Given the description of an element on the screen output the (x, y) to click on. 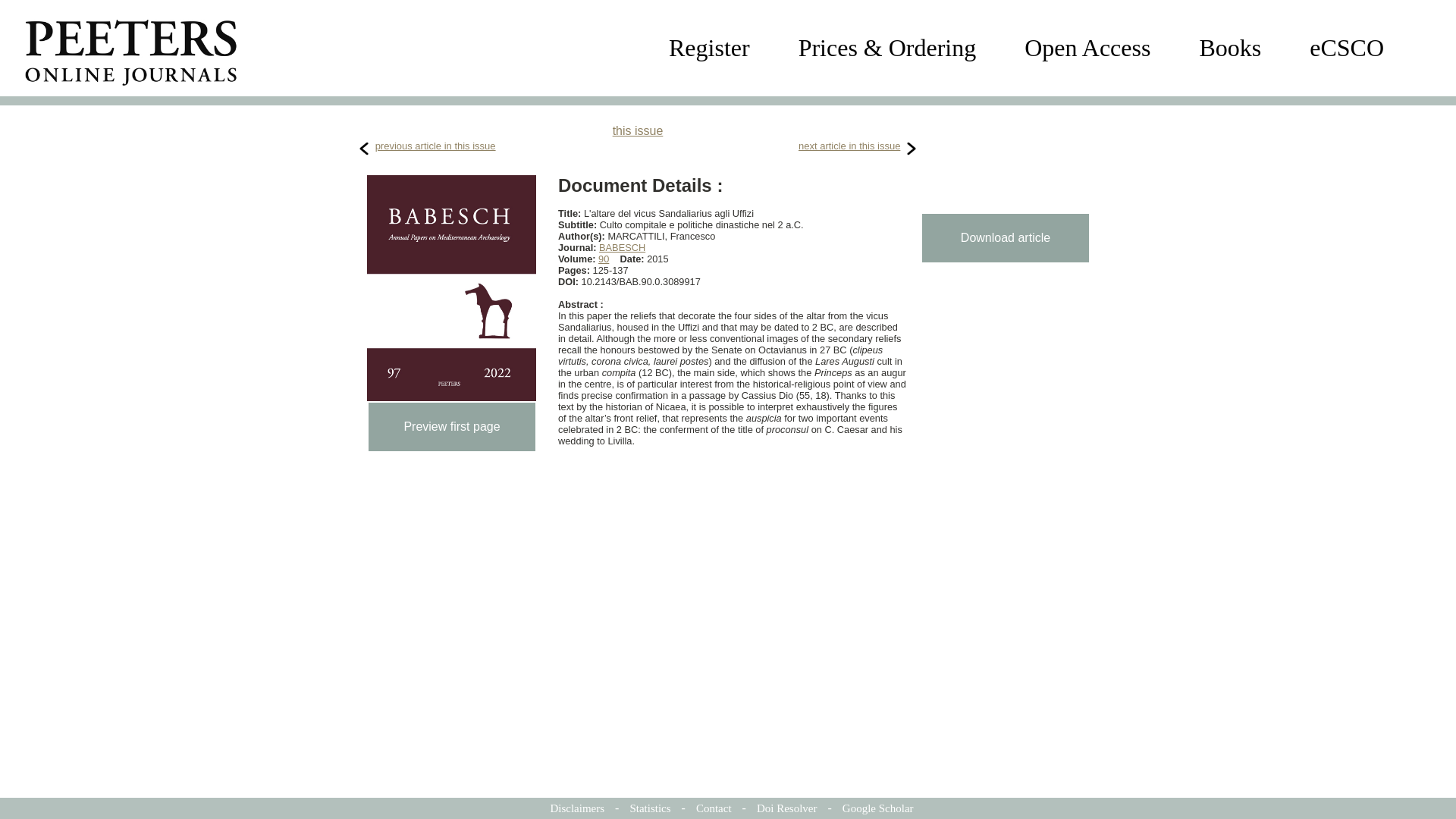
Books (1229, 47)
Download article (1005, 237)
Disclaimers (576, 807)
Register (708, 47)
Open Access (1087, 47)
next article in this issue (848, 145)
this issue (637, 130)
Statistics (649, 807)
eCSCO (1346, 47)
BABESCH (621, 247)
